Given the description of an element on the screen output the (x, y) to click on. 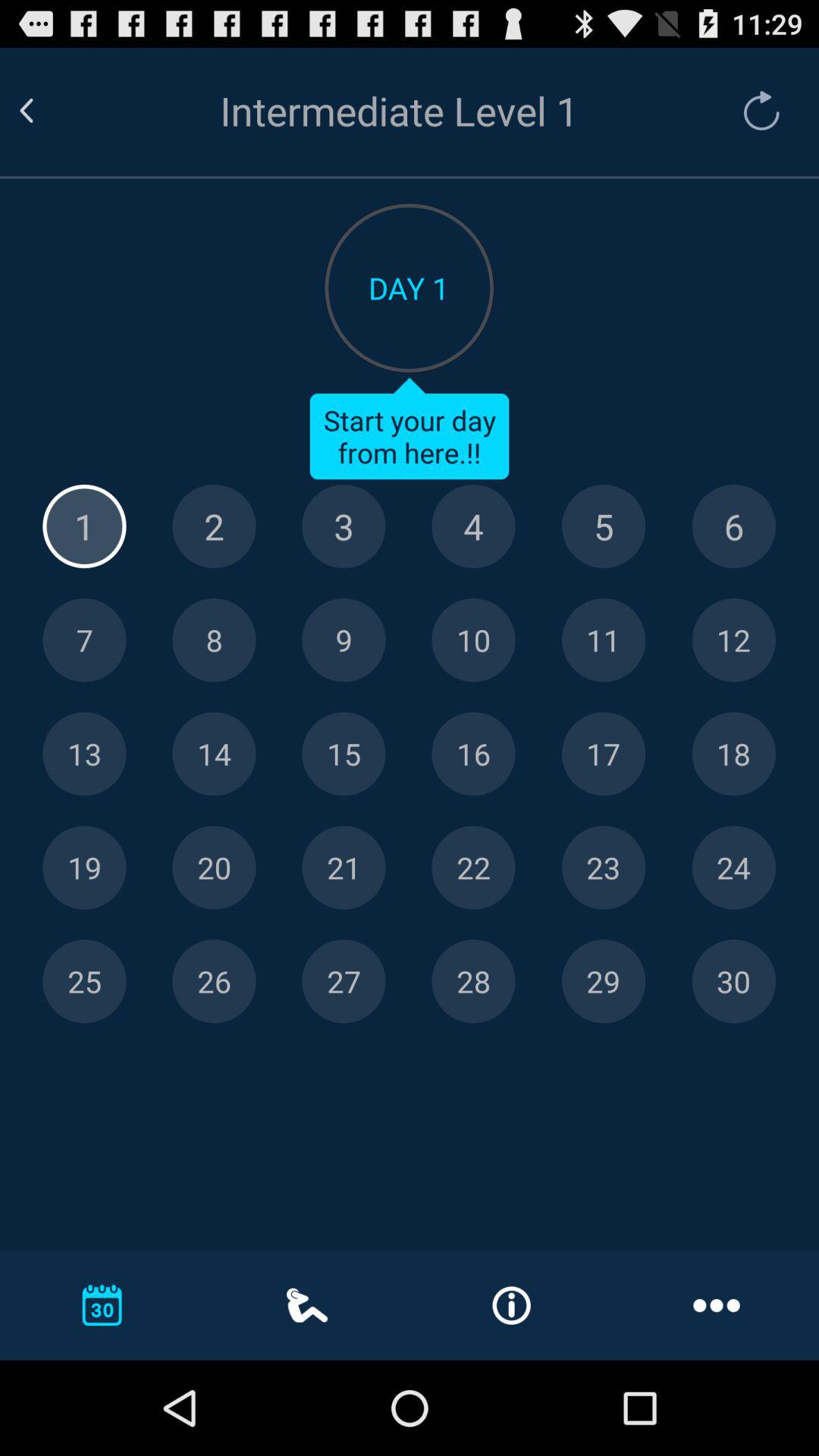
day 13 button (84, 753)
